Given the description of an element on the screen output the (x, y) to click on. 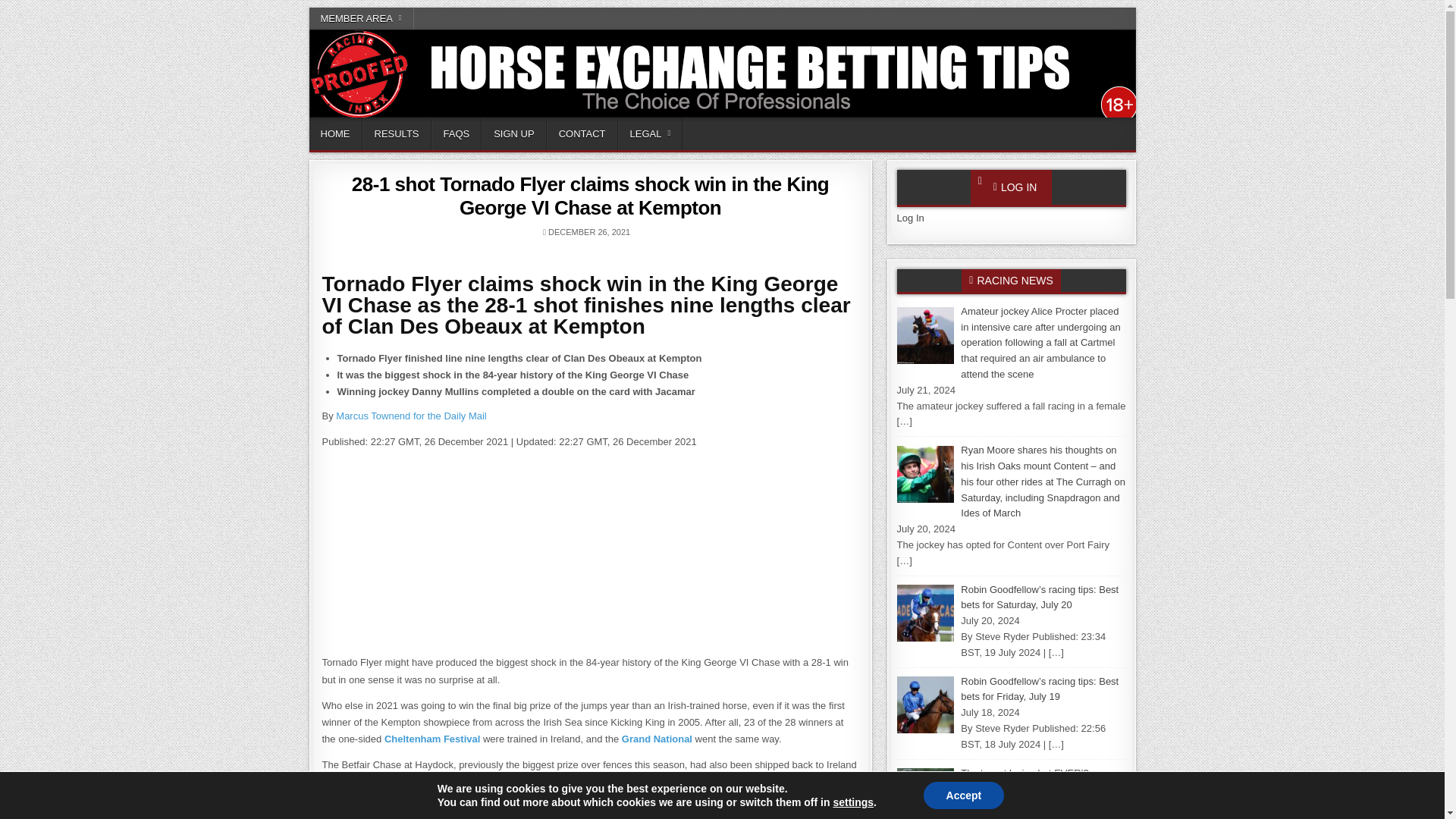
FAQS (455, 133)
Marcus Townend for the Daily Mail (411, 415)
settings (852, 802)
LEGAL (649, 133)
Log In (910, 217)
MEMBER AREA (360, 18)
CONTACT (582, 133)
Cheltenham Festival (432, 738)
Grand National (657, 738)
HOME (335, 133)
SIGN UP (513, 133)
RESULTS (396, 133)
Accept (963, 795)
